Given the description of an element on the screen output the (x, y) to click on. 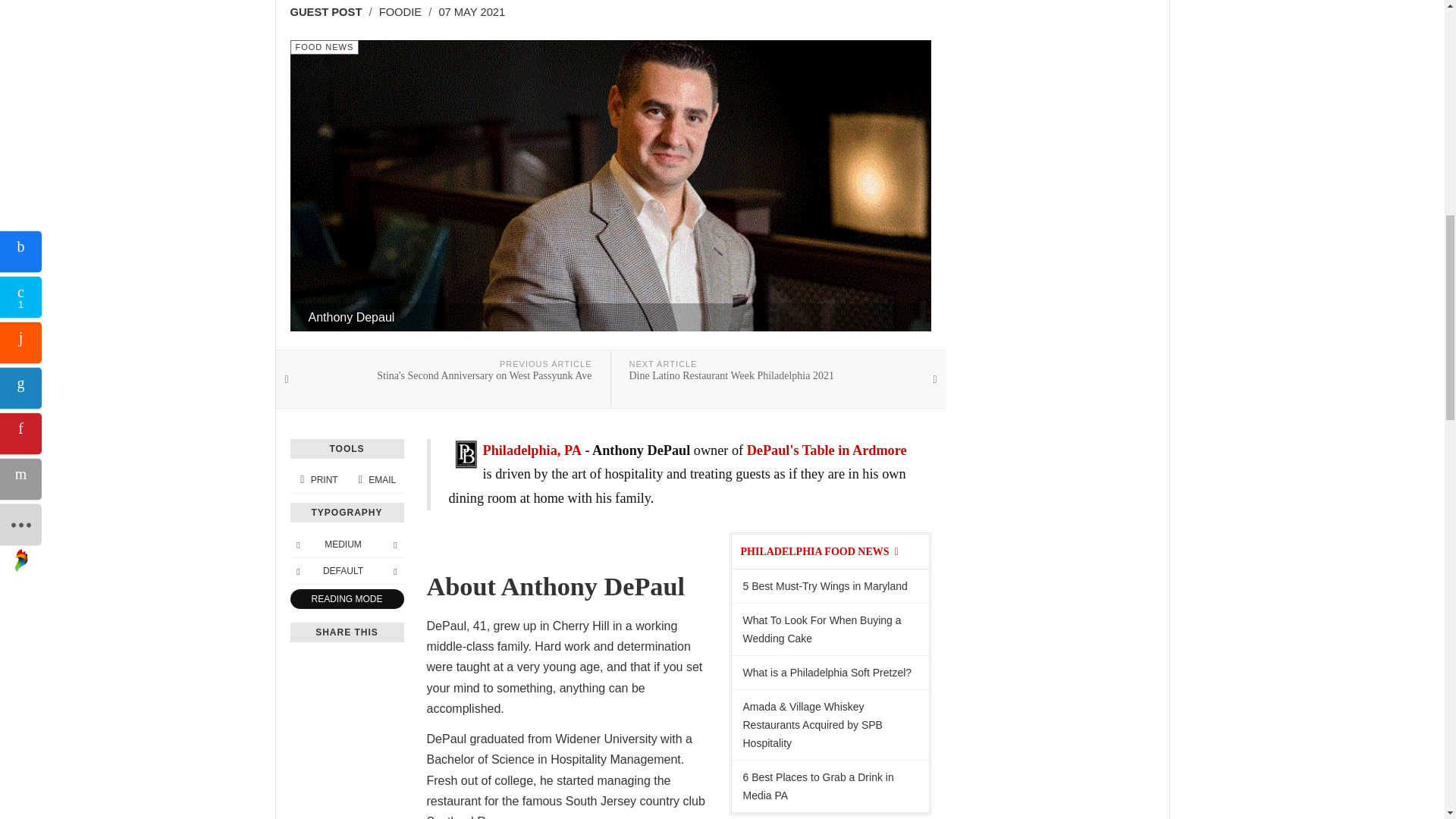
Print (318, 480)
Bigger Font (778, 378)
FOODIE (395, 544)
5 Best Must-Try Wings in Maryland (400, 11)
What To Look For When Buying a Wedding Cake (829, 585)
Category:  (829, 629)
Smaller Font (323, 47)
Written by  (297, 544)
Email (330, 12)
